Given the description of an element on the screen output the (x, y) to click on. 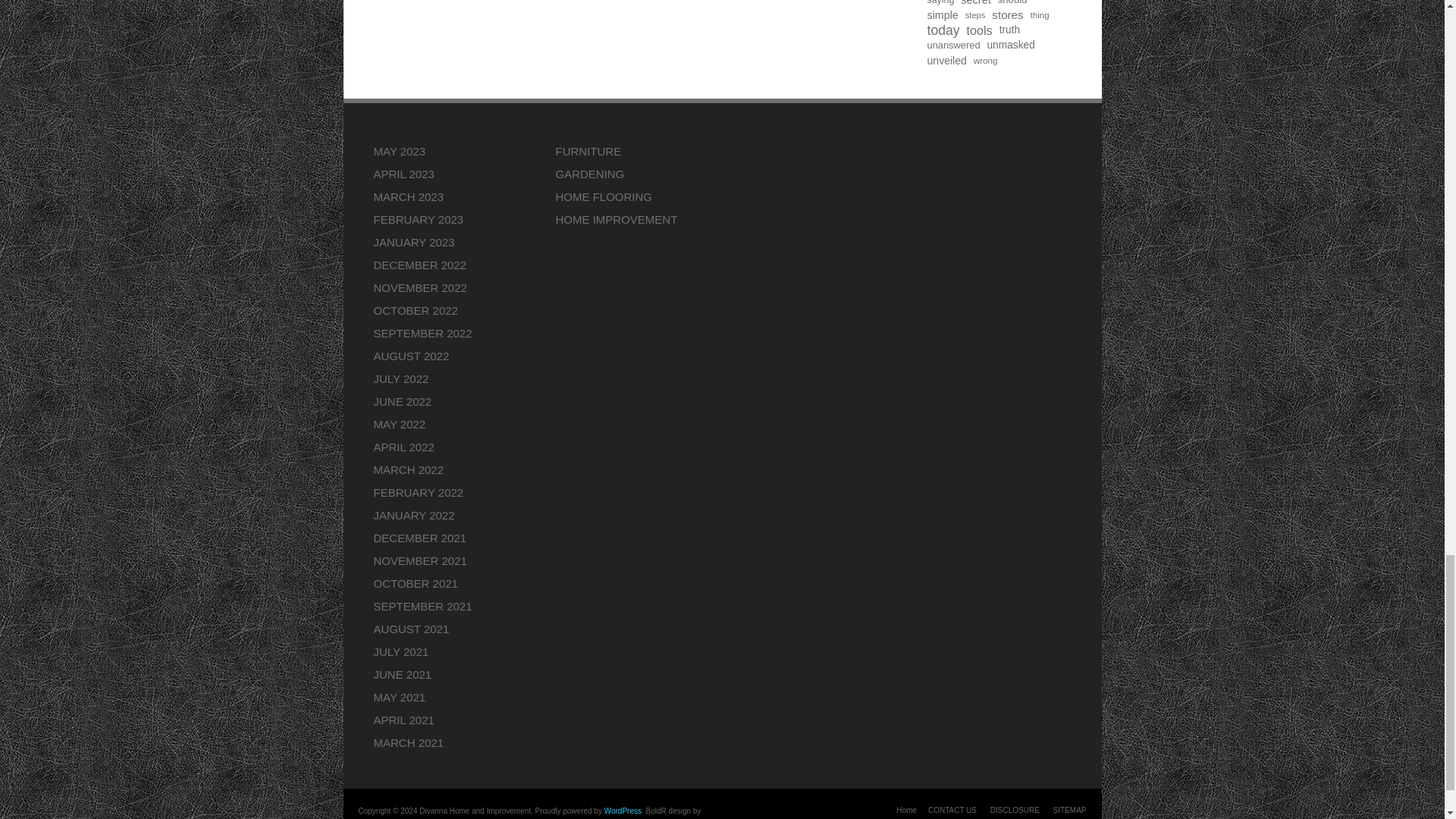
Semantic Personal Publishing Platform (623, 810)
